Given the description of an element on the screen output the (x, y) to click on. 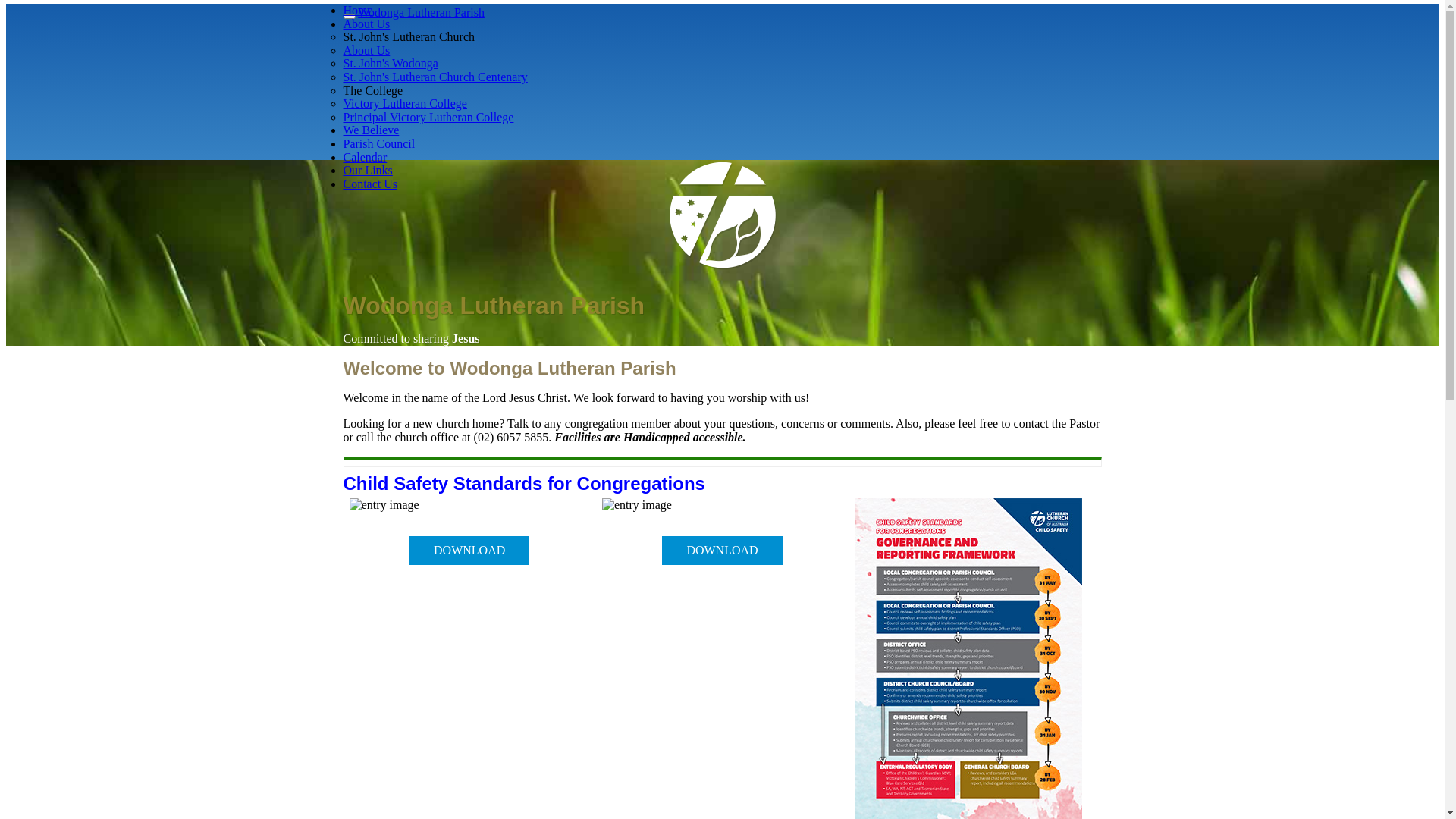
DOWNLOAD Element type: text (721, 550)
Home Element type: text (357, 9)
St. John's Lutheran Church Centenary Element type: text (434, 76)
Parish Council Element type: text (378, 143)
Wodonga Lutheran Parish Element type: text (420, 12)
Victory Lutheran College Element type: text (404, 103)
About Us Element type: text (365, 23)
St. John's Wodonga Element type: text (389, 62)
DOWNLOAD Element type: text (469, 550)
Our Links Element type: text (367, 169)
Principal Victory Lutheran College Element type: text (427, 116)
Calendar Element type: text (364, 156)
About Us Element type: text (365, 49)
Contact Us Element type: text (369, 183)
We Believe Element type: text (370, 129)
